Given the description of an element on the screen output the (x, y) to click on. 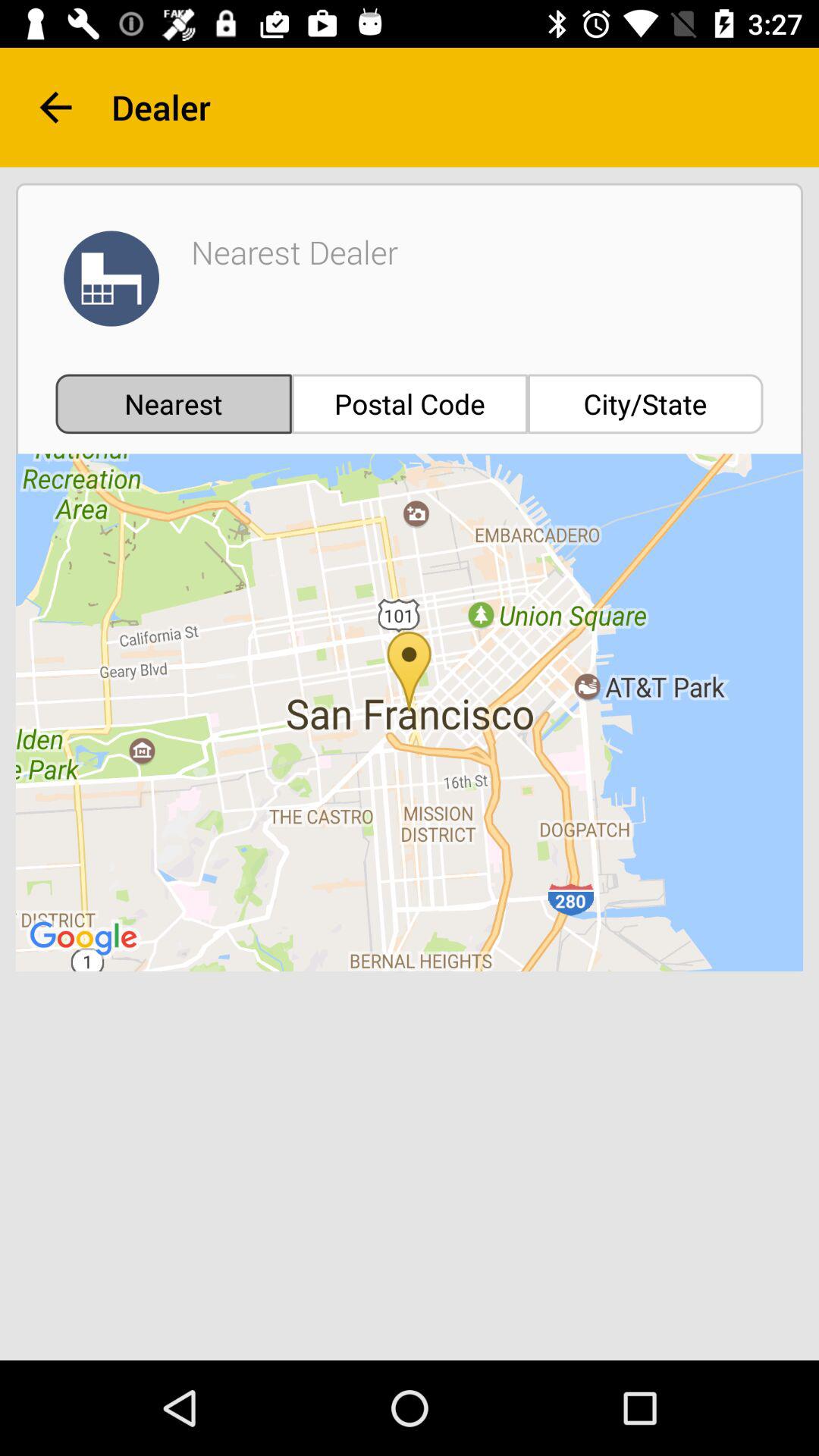
turn off the item next to the nearest item (409, 403)
